Given the description of an element on the screen output the (x, y) to click on. 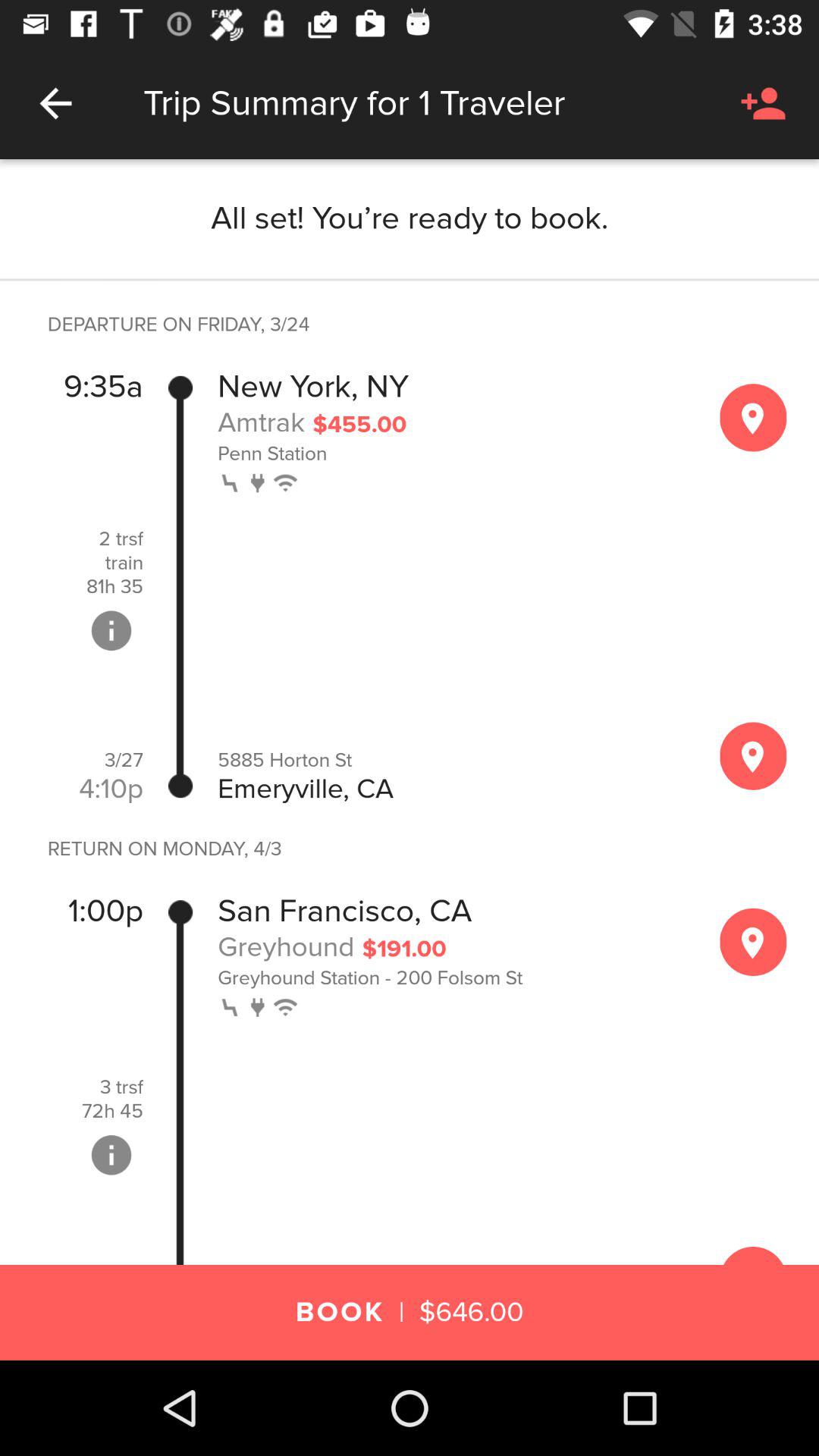
scroll until 2 trsf icon (120, 539)
